Given the description of an element on the screen output the (x, y) to click on. 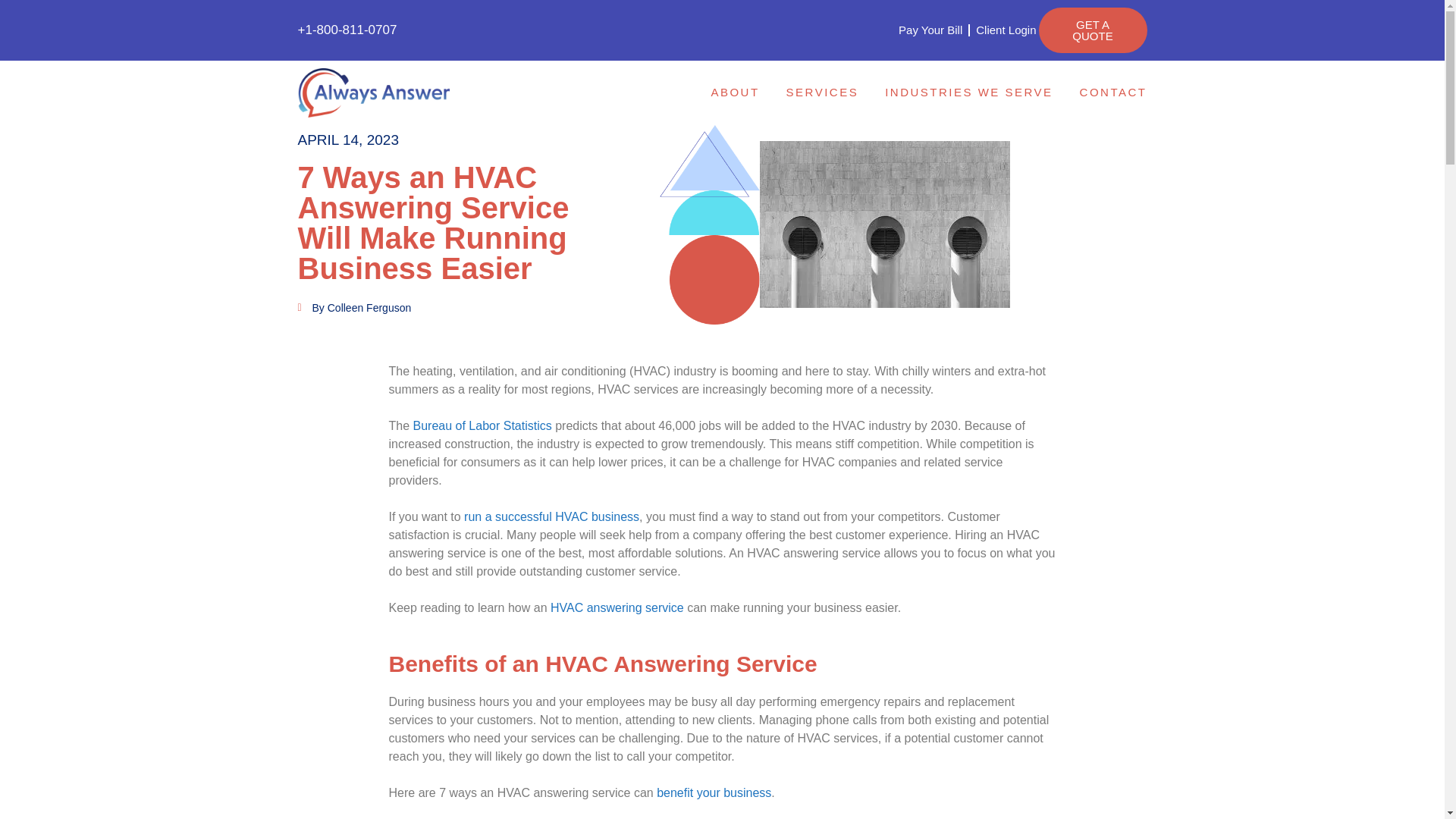
CONTACT (1113, 91)
SERVICES (826, 91)
GET A QUOTE (1093, 30)
INDUSTRIES WE SERVE (972, 91)
Pay Your Bill (929, 30)
Client Login (1006, 30)
ABOUT (738, 91)
